Given the description of an element on the screen output the (x, y) to click on. 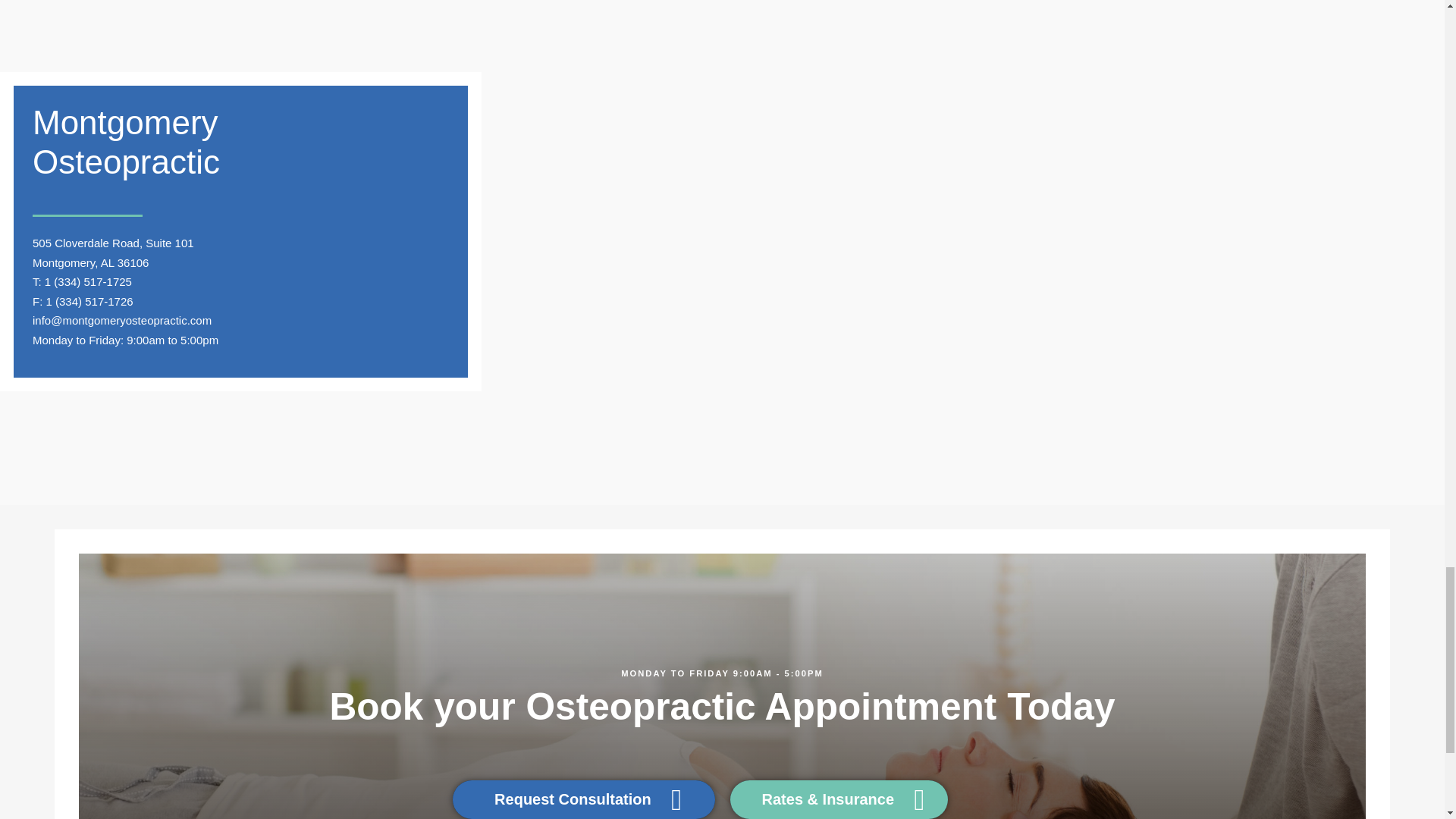
Request Consultation (583, 799)
Montgomery, AL 361 (84, 262)
